Given the description of an element on the screen output the (x, y) to click on. 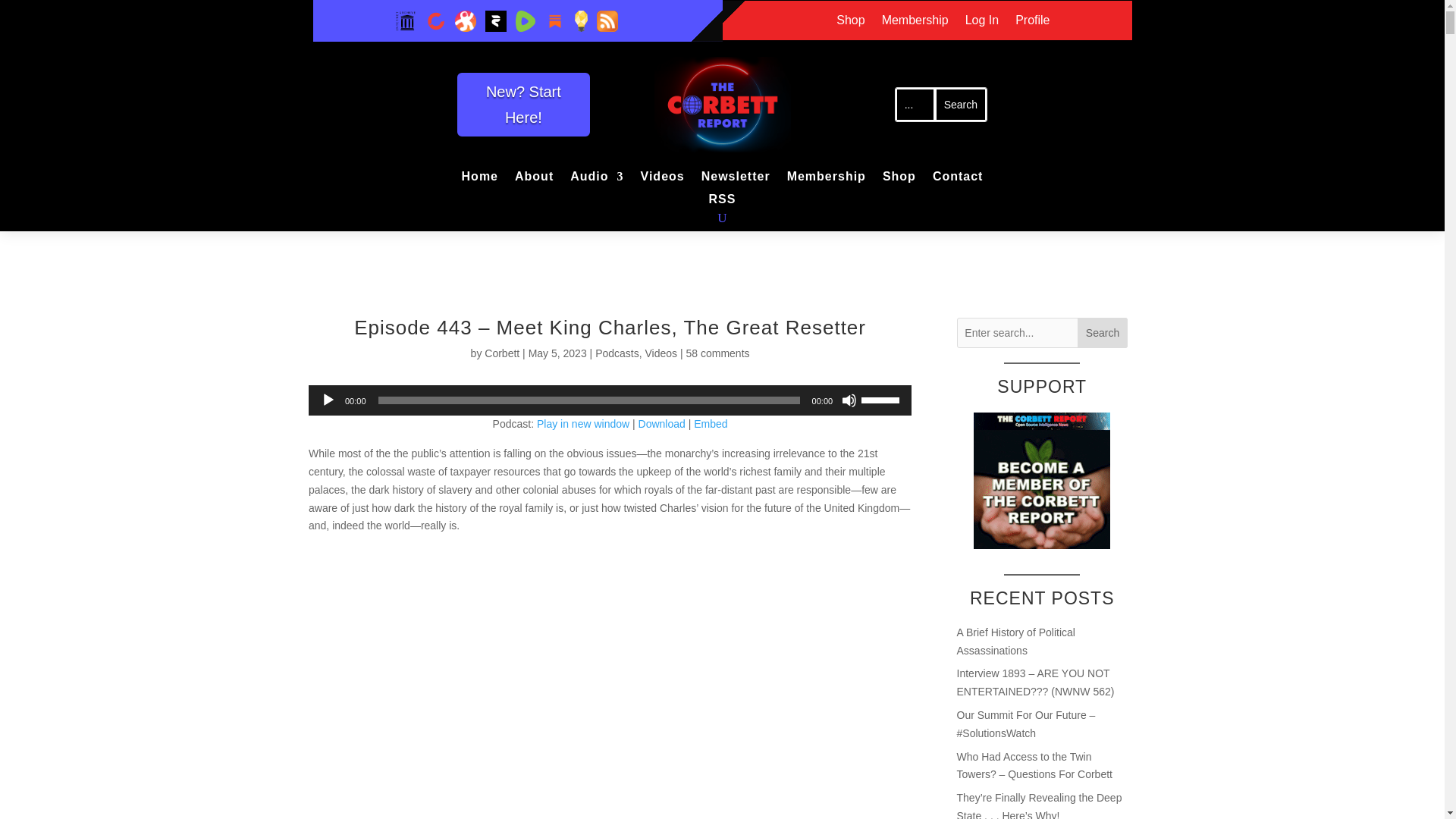
Profile (1031, 23)
Membership (826, 179)
Newsletter (735, 179)
Videos (662, 179)
Contact (958, 179)
RSS (722, 202)
Search (960, 104)
About (534, 179)
Play (328, 400)
Play in new window (582, 423)
Membership (915, 23)
New? Start Here! (523, 104)
Mute (849, 400)
Shop (898, 179)
Posts by Corbett (501, 353)
